Given the description of an element on the screen output the (x, y) to click on. 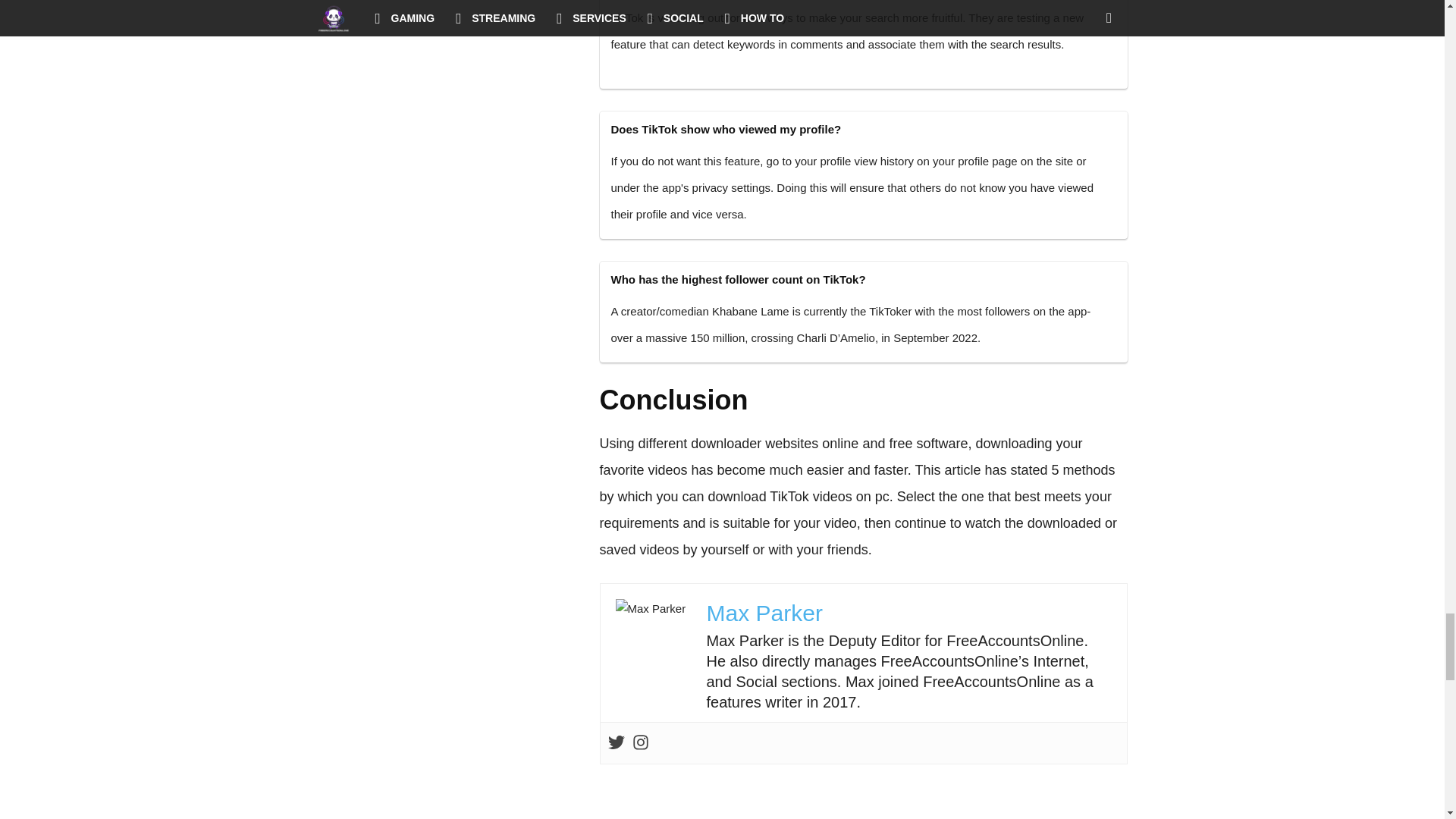
Twitter (616, 742)
Instagram (640, 742)
Max Parker (764, 612)
